Given the description of an element on the screen output the (x, y) to click on. 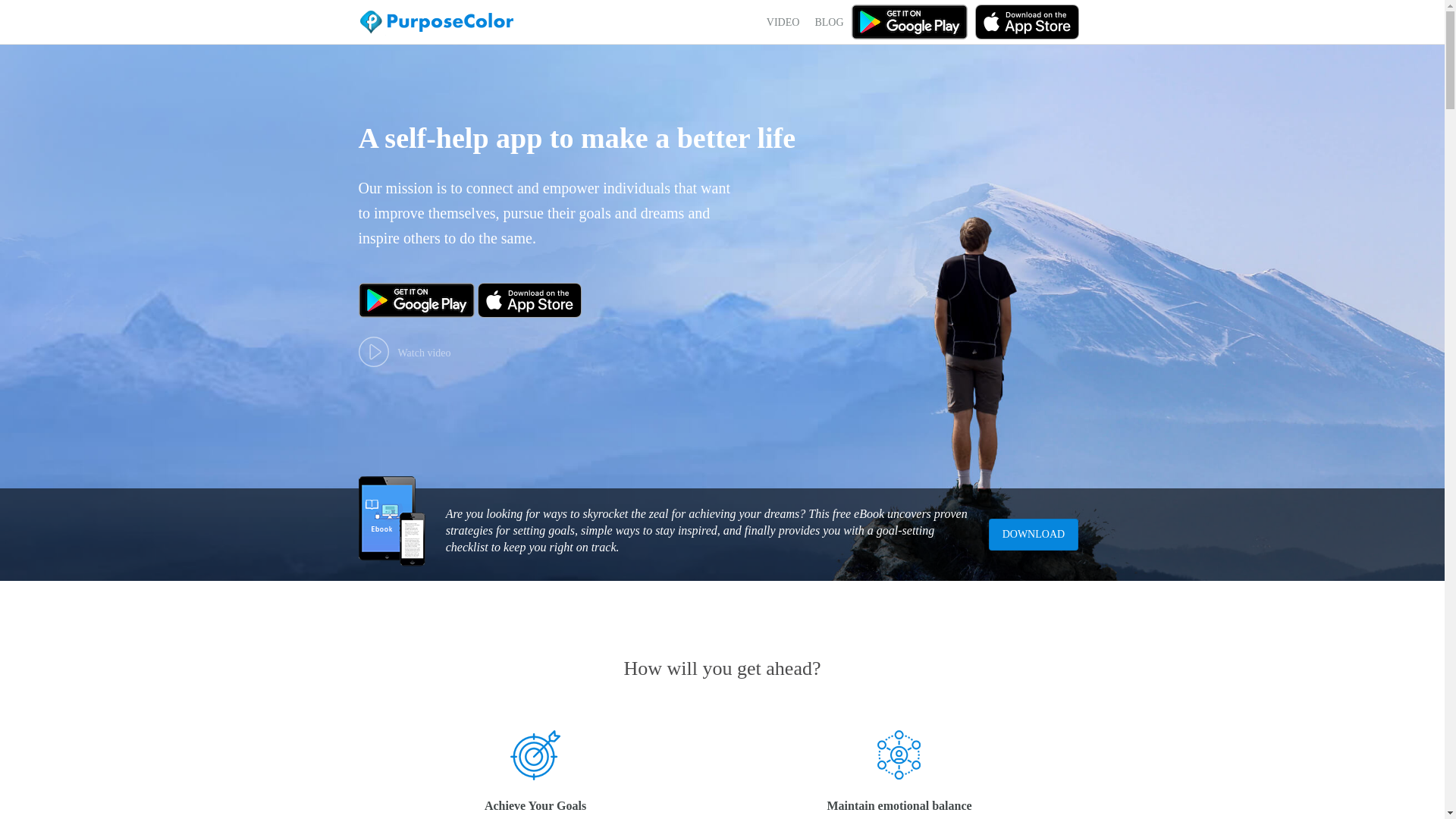
VIDEO (783, 22)
DOWNLOAD (1033, 534)
BLOG (828, 22)
Motivational app to achieve goals and dreams (899, 755)
Gratitude journal app fo achieving your goal (535, 755)
Watch video (403, 351)
App Store Icon (1026, 21)
Best habit tracking and goal setting app for iOS (528, 299)
Google Play Icon (416, 299)
Purposecolor (438, 26)
Free goal setting and goal tracking app demo video (373, 351)
Best habit tracking and goal setting app for android (908, 21)
Self-help App (438, 26)
